Given the description of an element on the screen output the (x, y) to click on. 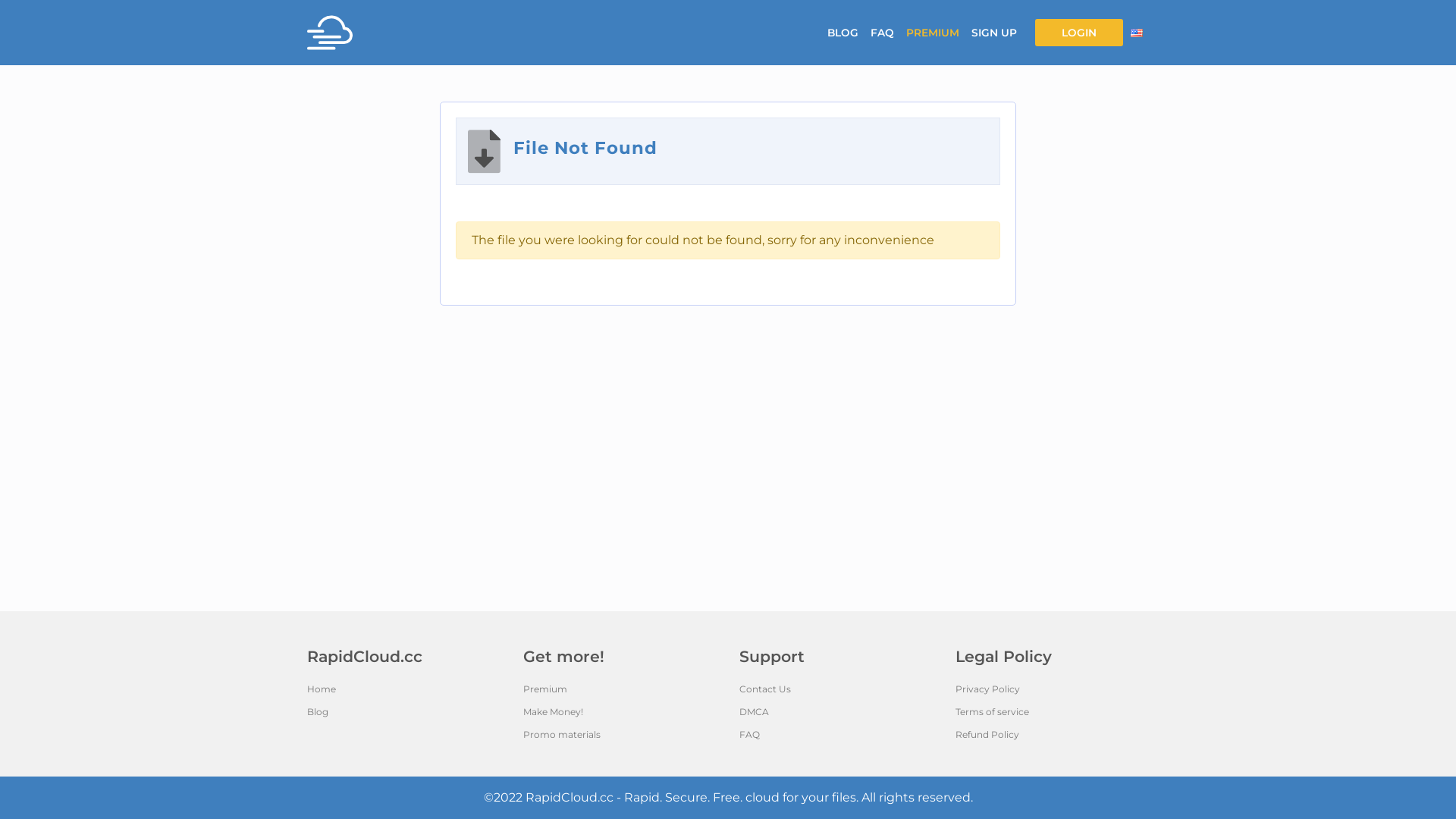
Privacy Policy Element type: text (1051, 688)
PREMIUM Element type: text (932, 32)
DMCA Element type: text (835, 711)
Contact Us Element type: text (835, 688)
Terms of service Element type: text (1051, 711)
FAQ Element type: text (882, 32)
RapidCloud.cc - Rapid. Secure. Free. cloud for your files Element type: text (689, 797)
BLOG Element type: text (842, 32)
FAQ Element type: text (835, 734)
Make Money! Element type: text (619, 711)
LOGIN Element type: text (1079, 32)
SIGN UP Element type: text (993, 32)
Blog Element type: text (403, 711)
Promo materials Element type: text (619, 734)
Home Element type: text (403, 688)
Refund Policy Element type: text (1051, 734)
Premium Element type: text (619, 688)
